Given the description of an element on the screen output the (x, y) to click on. 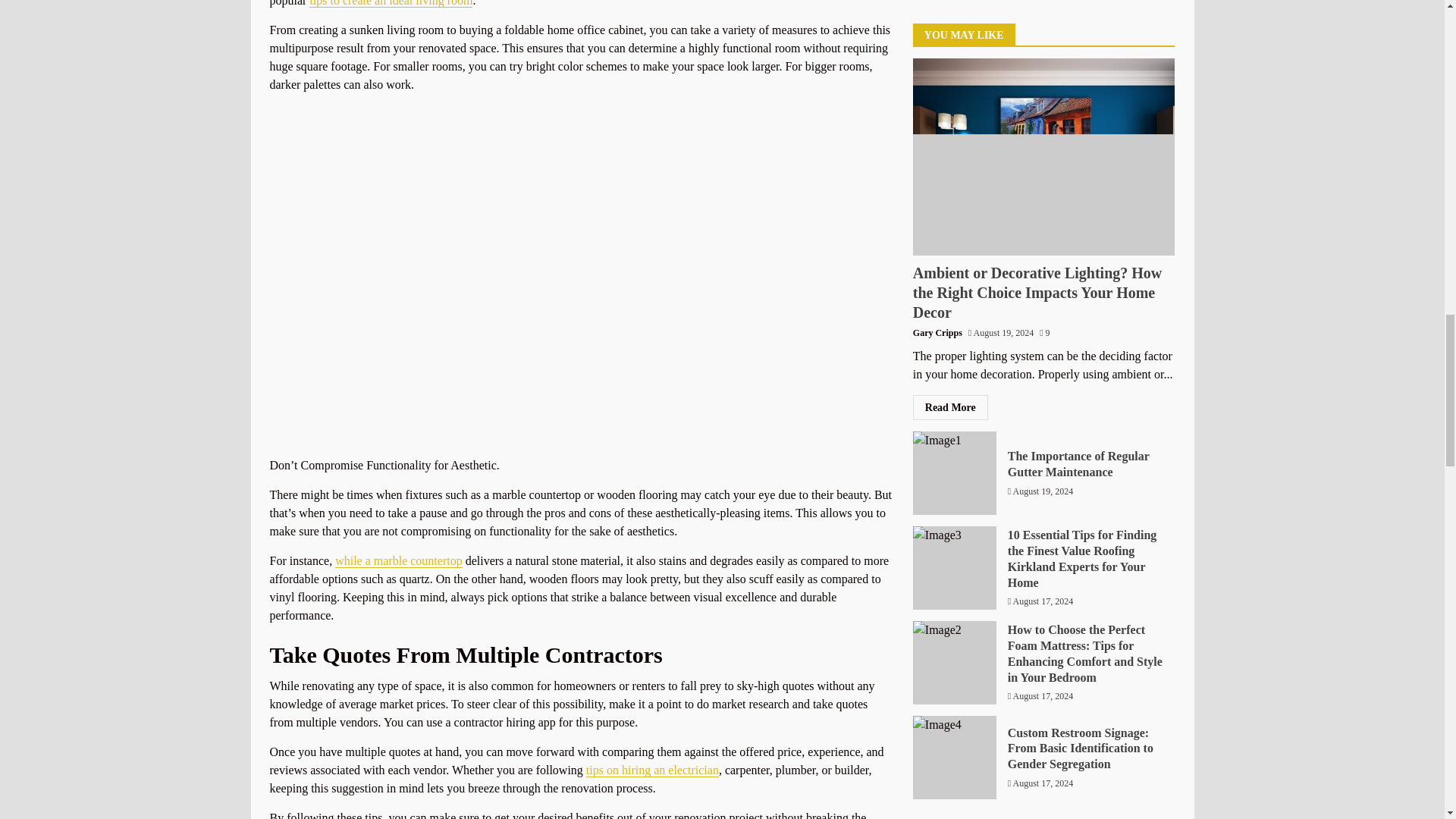
tips on hiring an electrician (652, 770)
tips to create an ideal living room (389, 3)
while a marble countertop (398, 561)
